Given the description of an element on the screen output the (x, y) to click on. 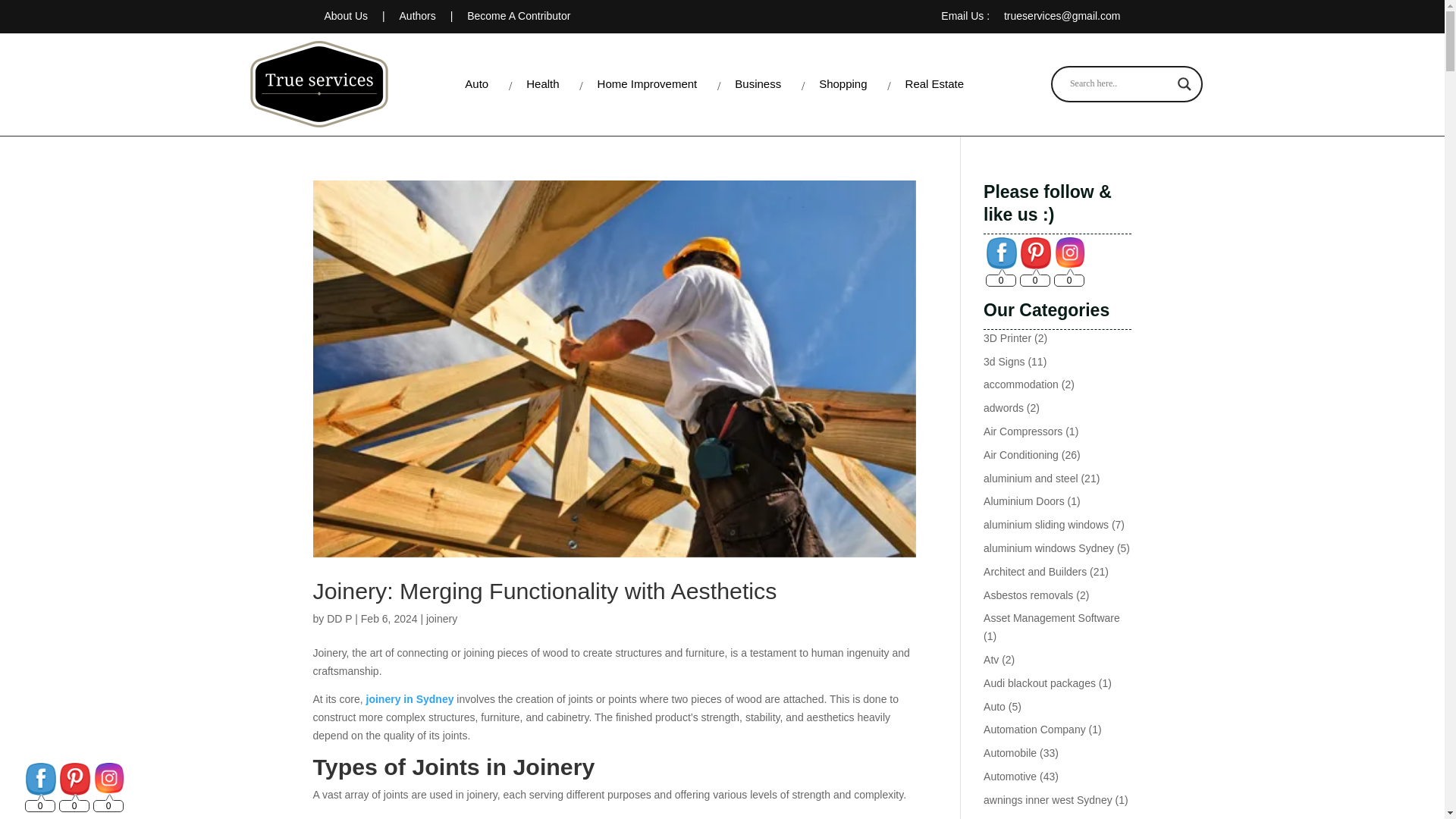
Joinery: Merging Functionality with Aesthetics (544, 590)
Pinterest (1035, 253)
Facebook (41, 778)
About Us (347, 15)
Shopping (842, 83)
Business (757, 83)
Home Improvement (647, 83)
Posts by DD P (339, 618)
Authors (418, 15)
Facebook (1001, 253)
